Given the description of an element on the screen output the (x, y) to click on. 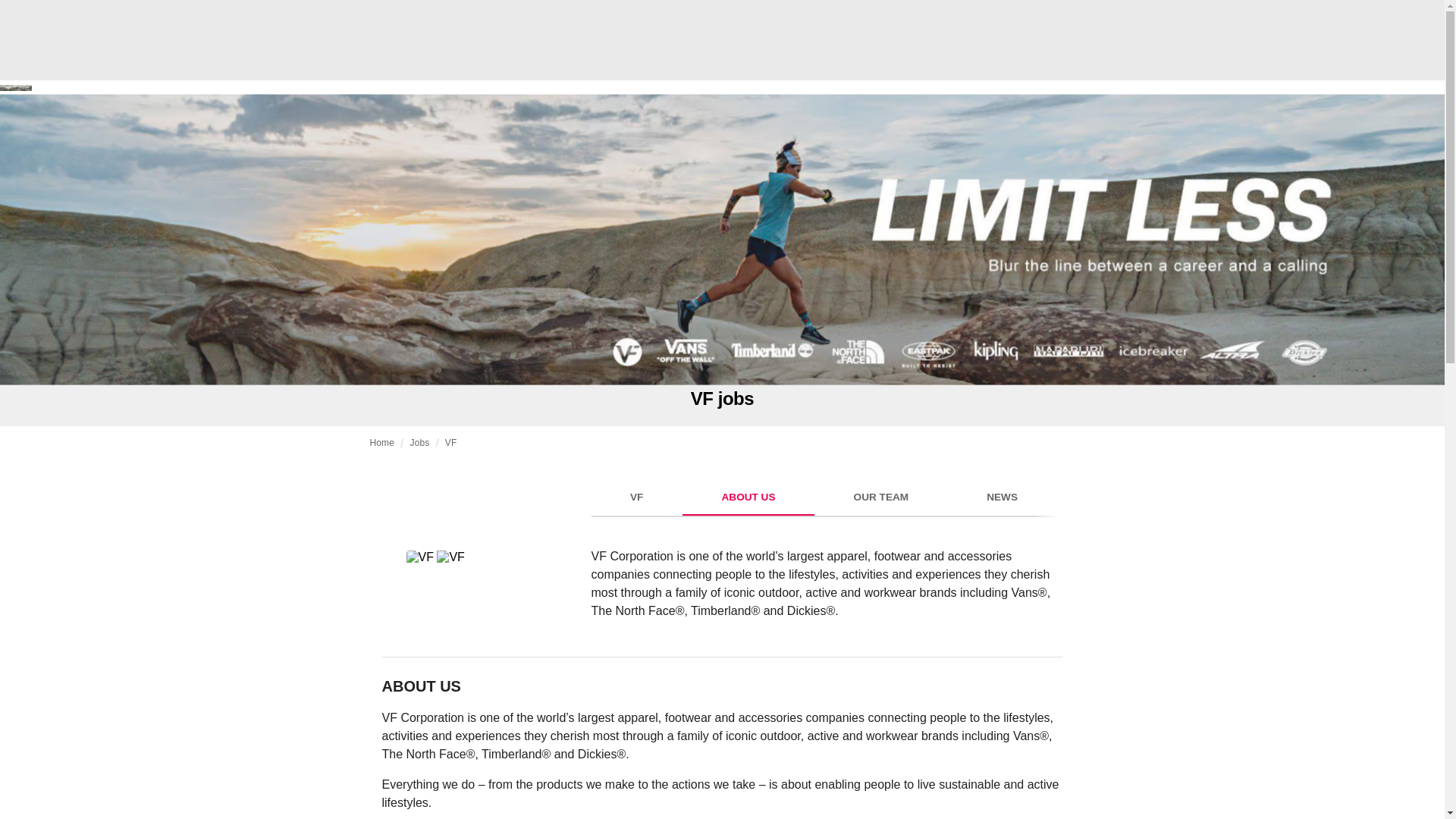
VF (451, 442)
VF (636, 497)
OUR TEAM (824, 495)
Jobs (880, 497)
Home (419, 442)
ABOUT US (381, 442)
VF (747, 497)
NEWS (489, 557)
